Given the description of an element on the screen output the (x, y) to click on. 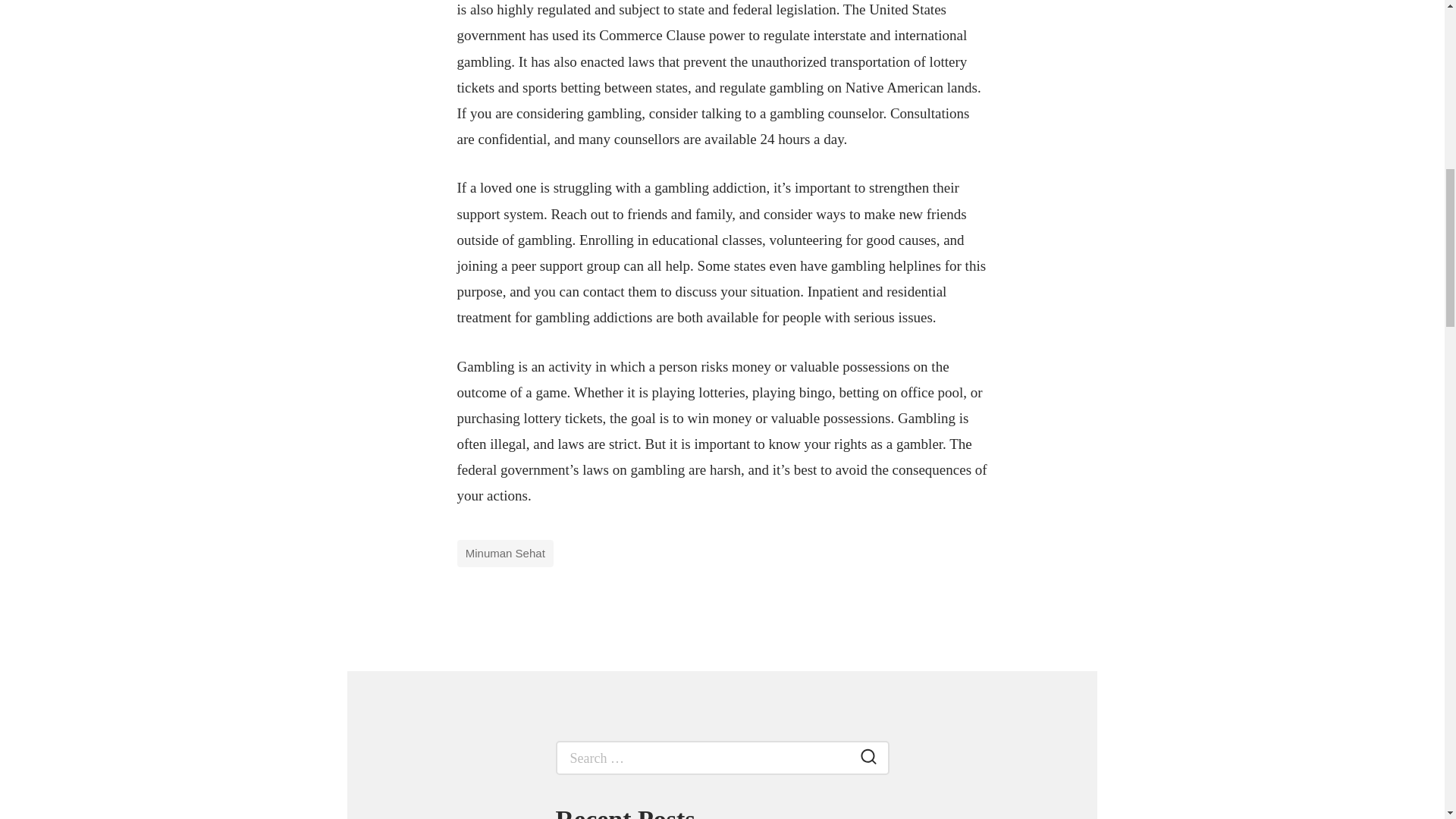
Search (868, 759)
Minuman Sehat (505, 553)
